Given the description of an element on the screen output the (x, y) to click on. 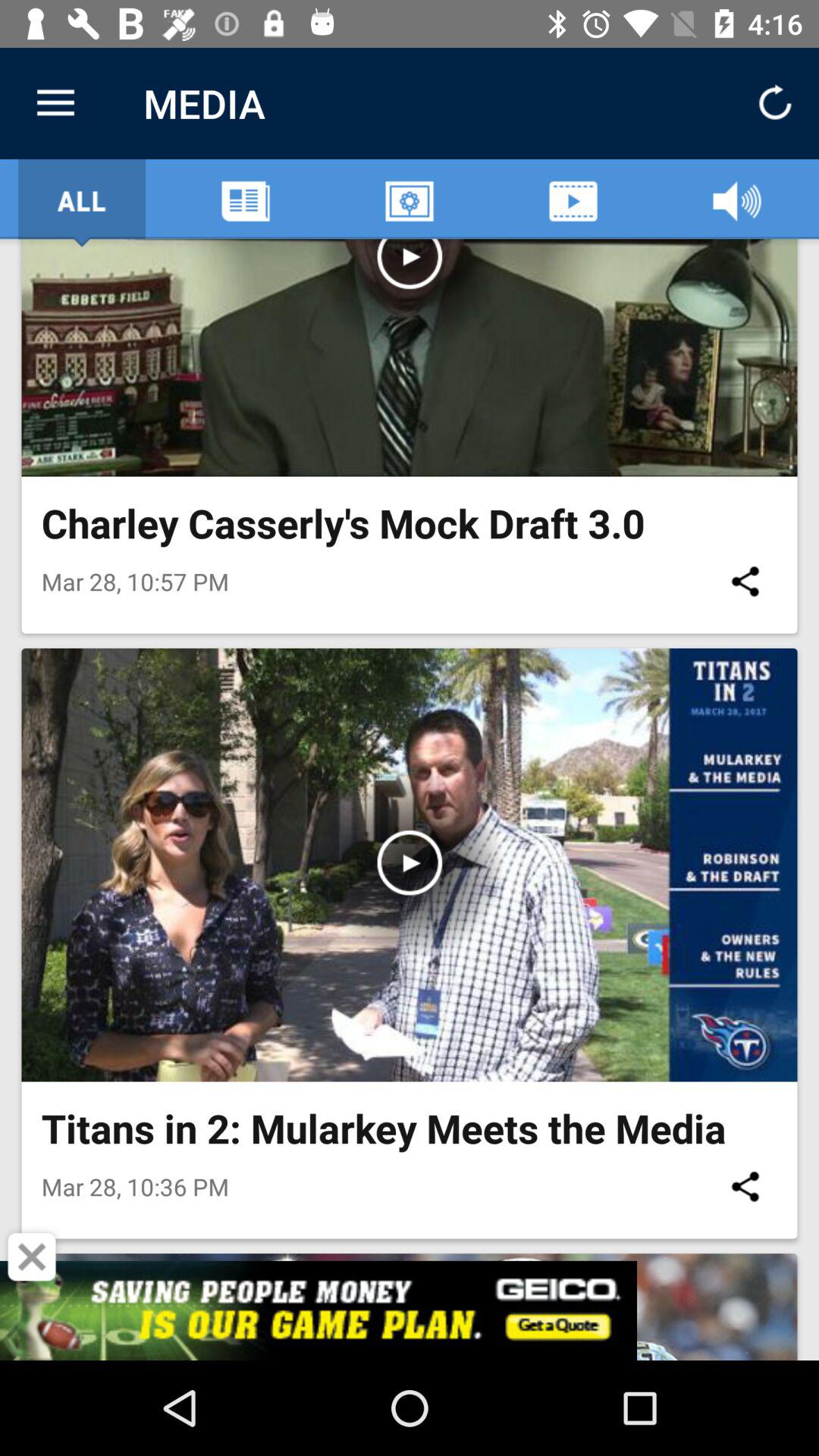
launch item to the left of media icon (55, 103)
